Given the description of an element on the screen output the (x, y) to click on. 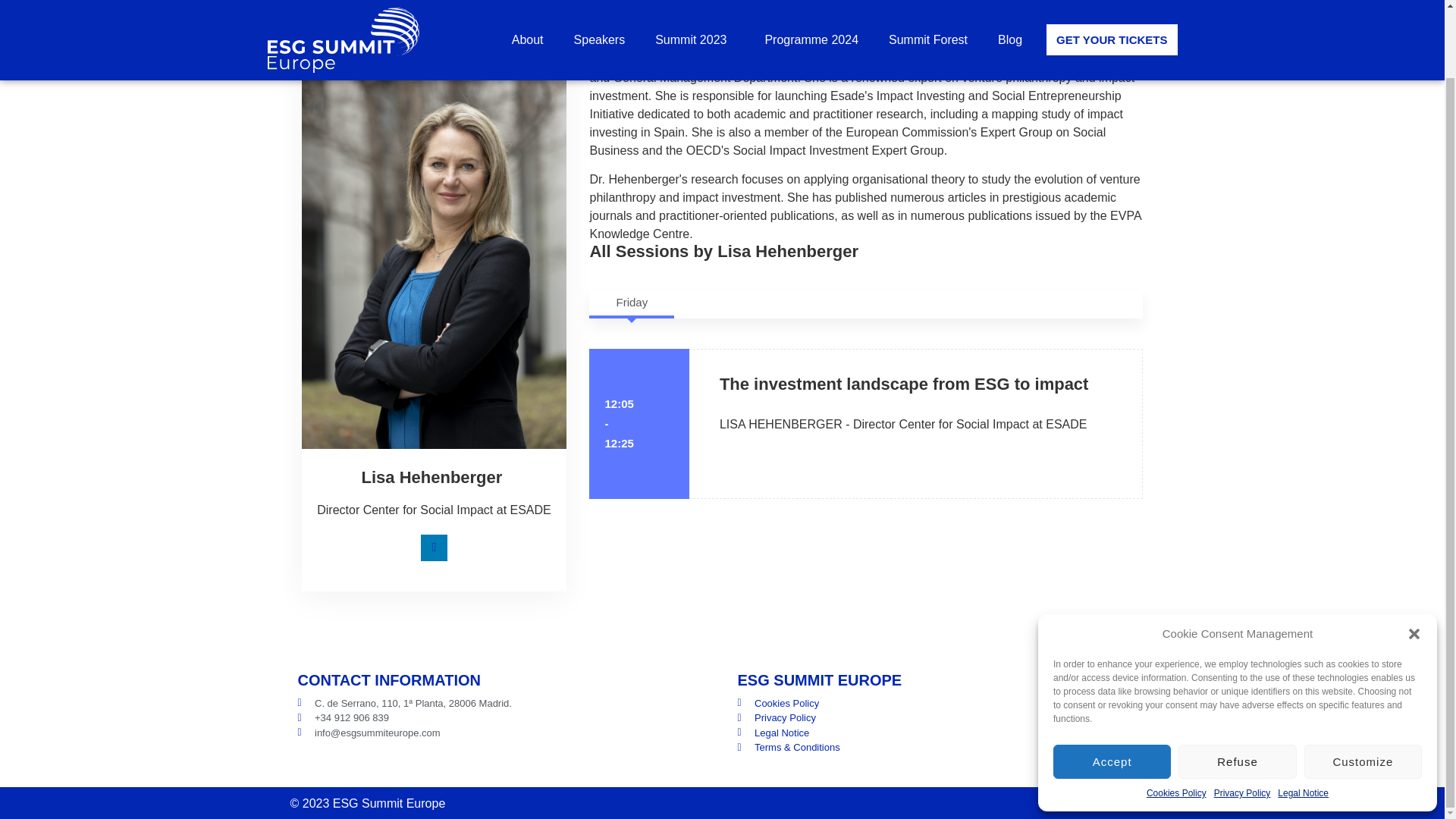
Customize (1363, 686)
Privacy Policy (1242, 717)
Refuse (1236, 686)
Legal Notice (1302, 717)
Accept (1111, 686)
Cookies Policy (1177, 717)
